Given the description of an element on the screen output the (x, y) to click on. 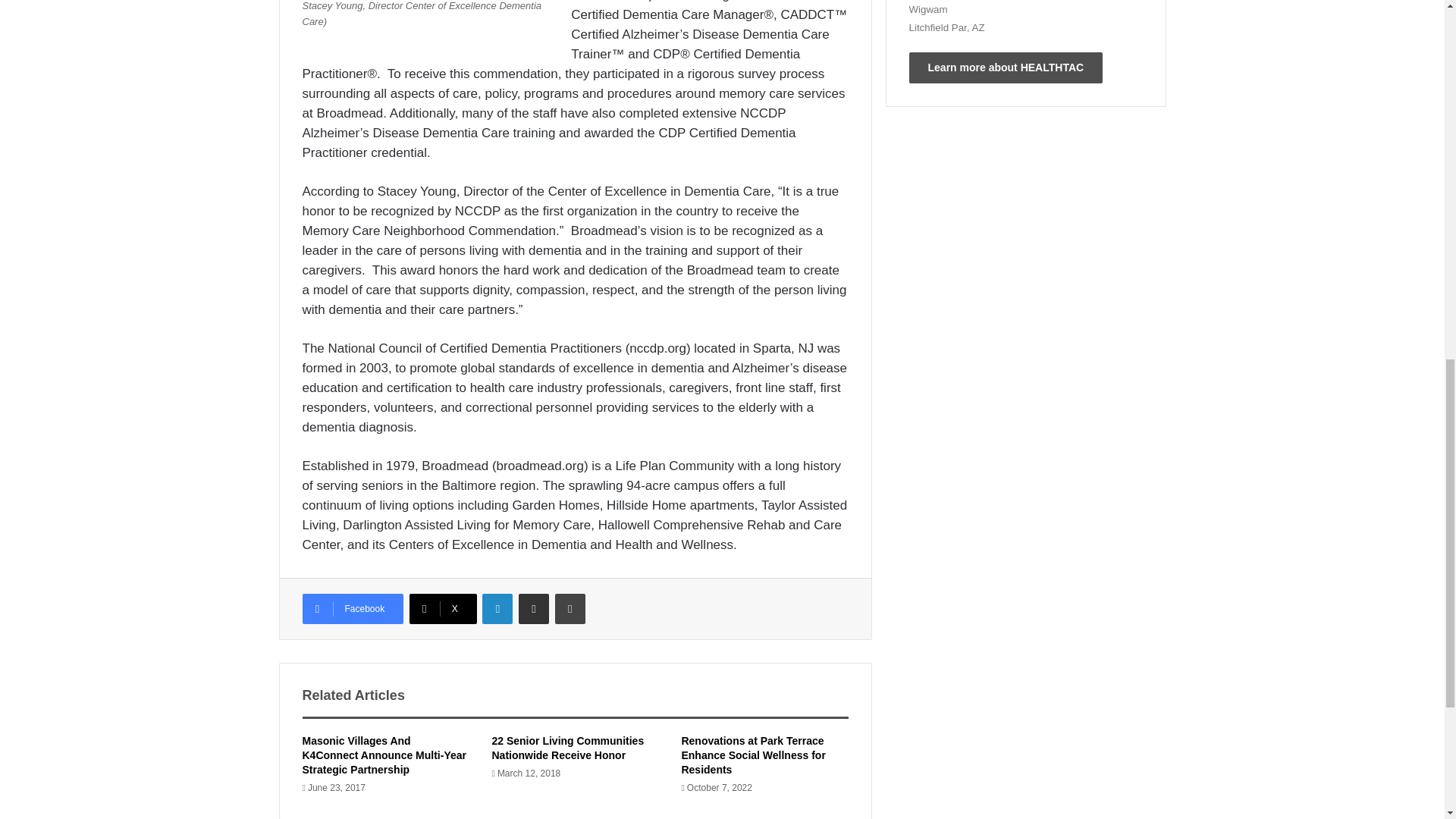
Learn more about HEALTHTAC (1005, 67)
22 Senior Living Communities Nationwide Receive Honor (567, 747)
X (443, 608)
Print (569, 608)
Share via Email (533, 608)
Print (569, 608)
Facebook (352, 608)
LinkedIn (496, 608)
LinkedIn (496, 608)
X (443, 608)
Back to top button (1413, 60)
Facebook (352, 608)
Share via Email (533, 608)
